Given the description of an element on the screen output the (x, y) to click on. 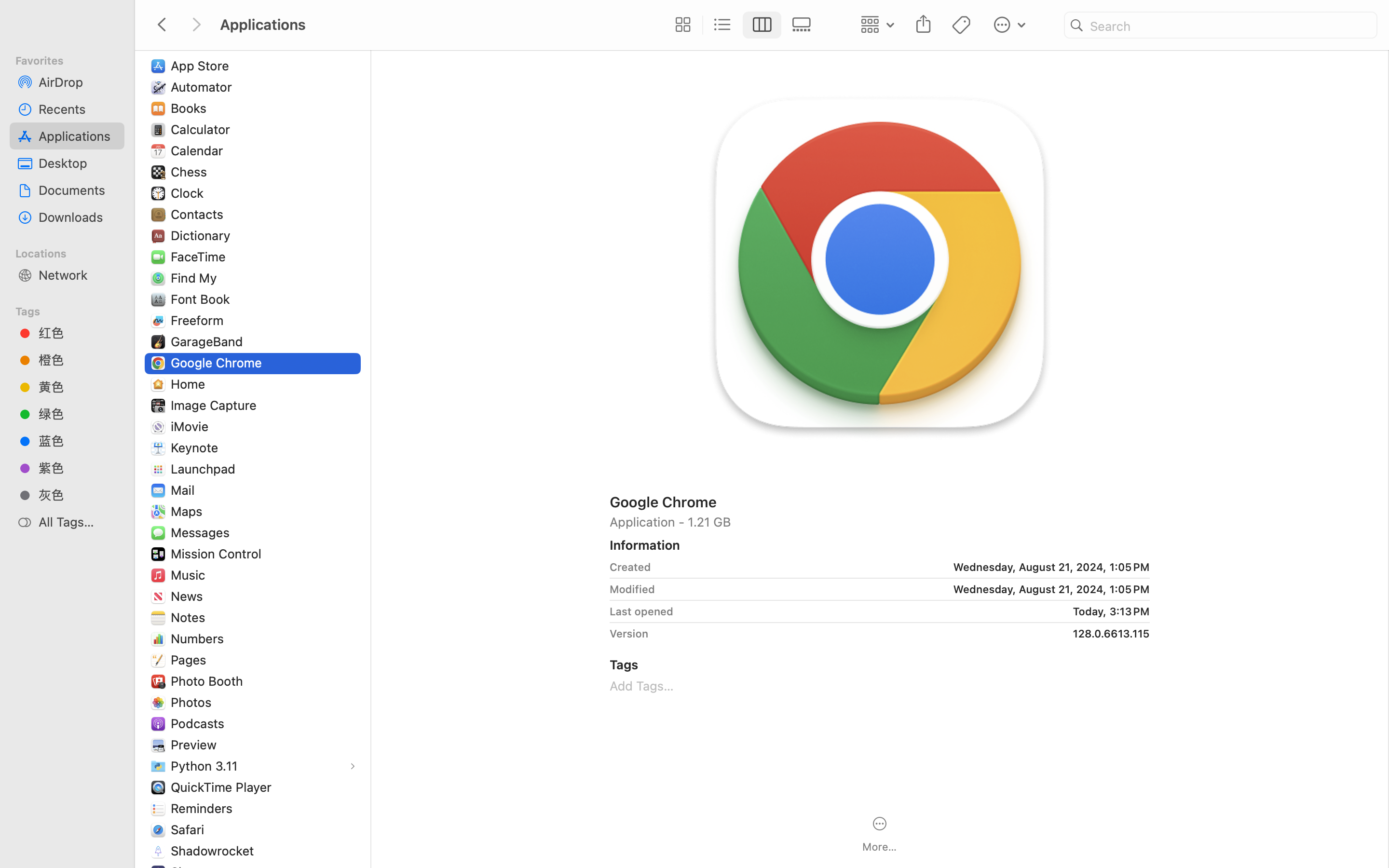
Network Element type: AXStaticText (77, 274)
Home Element type: AXTextField (189, 383)
红色 Element type: AXStaticText (77, 332)
Mission Control Element type: AXTextField (218, 553)
Last opened Element type: AXStaticText (641, 611)
